Given the description of an element on the screen output the (x, y) to click on. 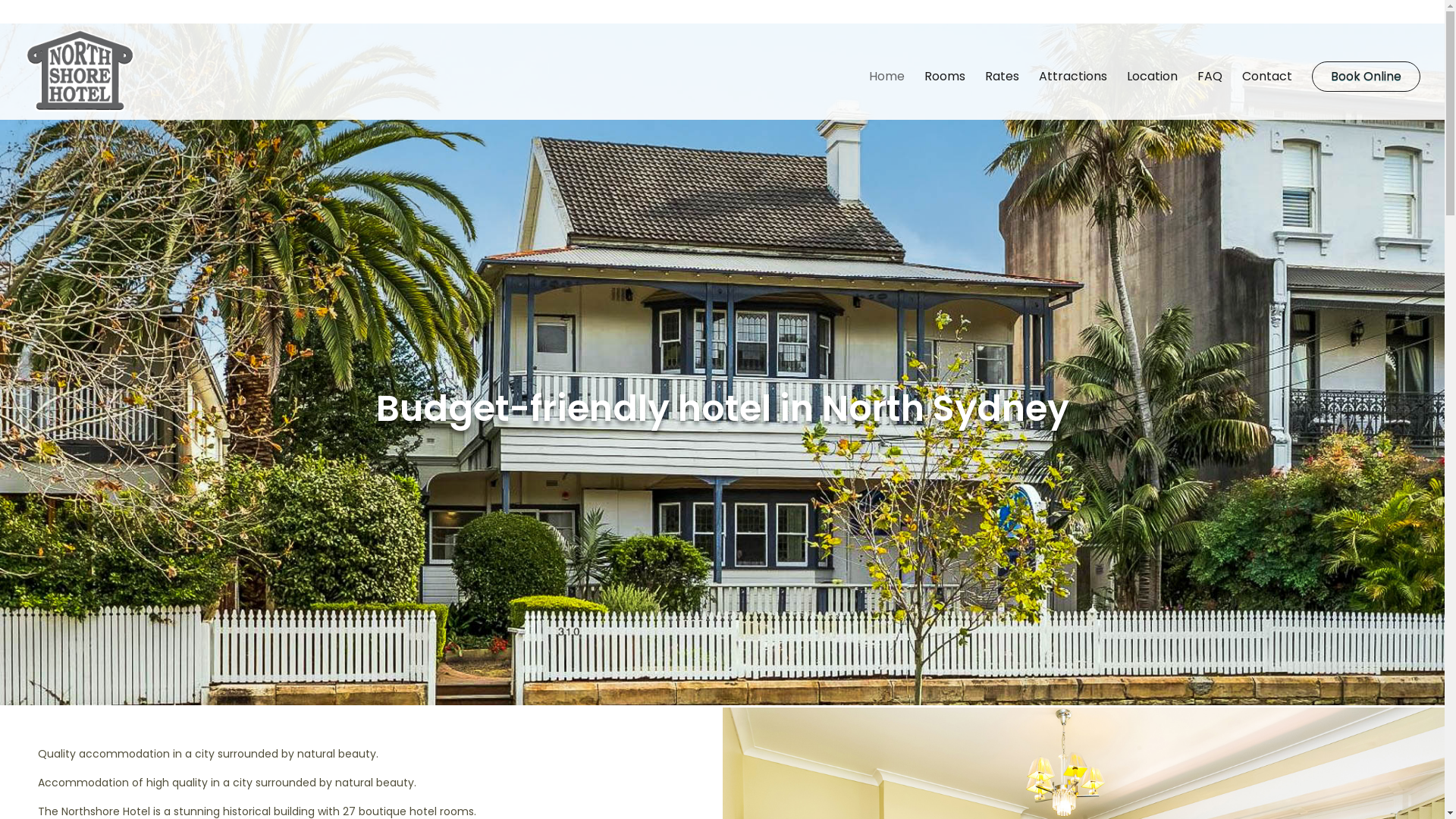
Home Element type: text (886, 95)
Book Online Element type: text (1365, 76)
Contact Element type: text (1267, 95)
Location Element type: text (1151, 95)
Rooms Element type: text (944, 95)
+61 (0) 2 9955 1012 Element type: text (76, 11)
Rates Element type: text (1002, 95)
FAQ Element type: text (1209, 95)
Attractions Element type: text (1072, 95)
res@northshorehotel.com.au Element type: text (379, 11)
